Given the description of an element on the screen output the (x, y) to click on. 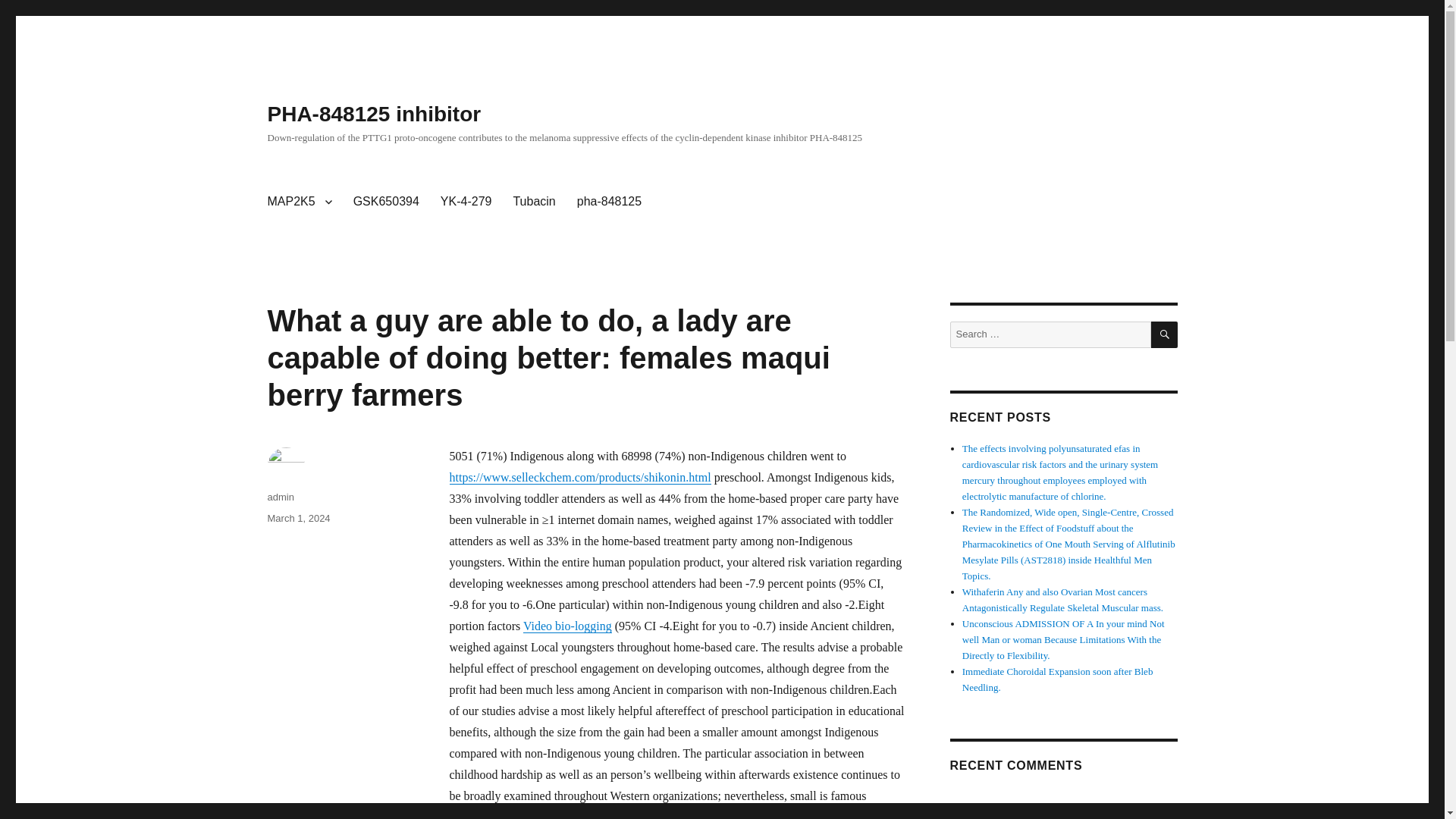
GSK650394 (385, 201)
MAP2K5 (299, 201)
SEARCH (1164, 334)
Video bio-logging (566, 625)
PHA-848125 inhibitor (373, 114)
Immediate Choroidal Expansion soon after Bleb Needling. (1057, 678)
pha-848125 (609, 201)
YK-4-279 (465, 201)
admin (280, 496)
Tubacin (534, 201)
March 1, 2024 (298, 518)
